Given the description of an element on the screen output the (x, y) to click on. 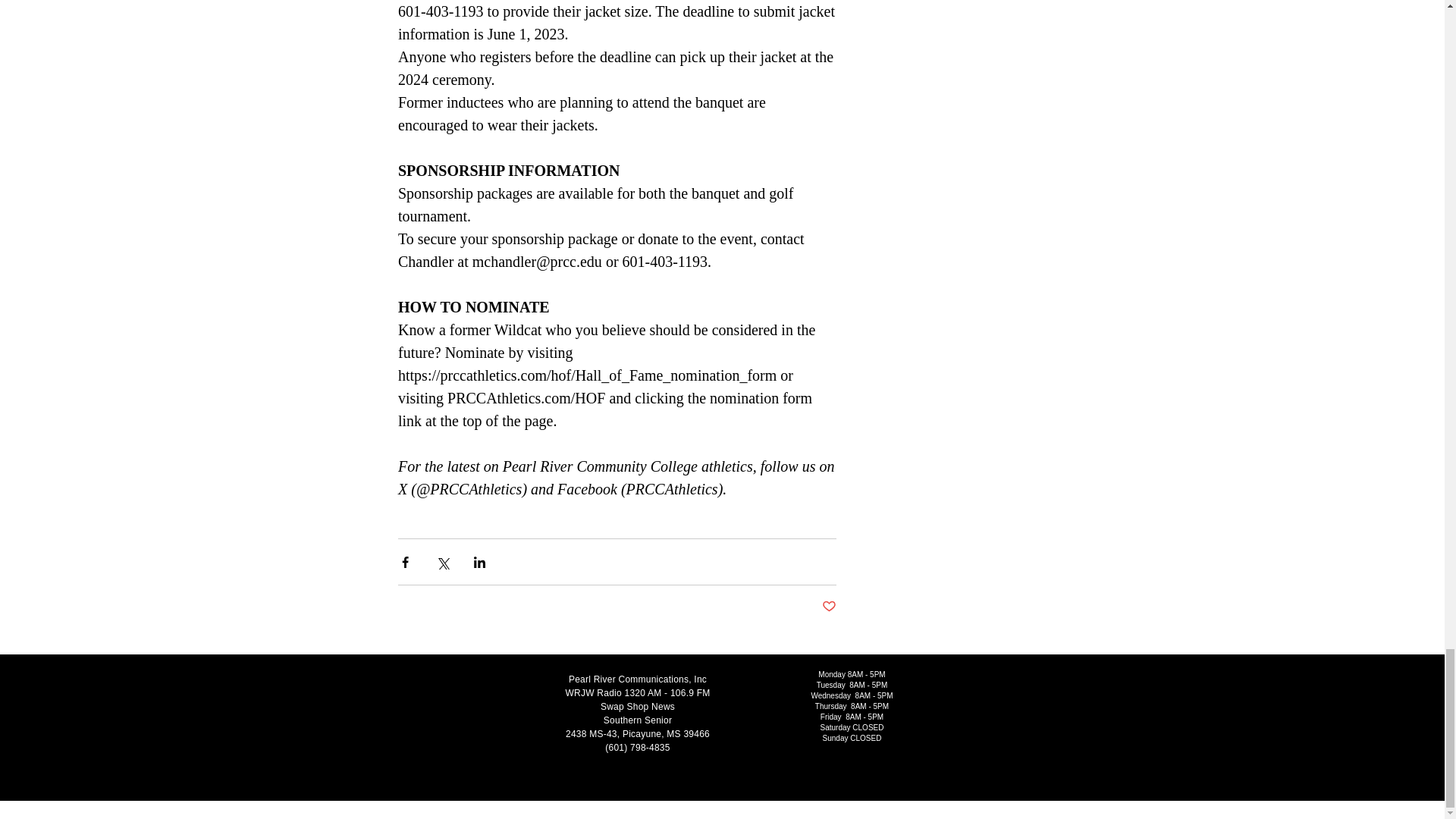
Post not marked as liked (828, 606)
FCC (359, 812)
PRCCAthletics (671, 488)
